Given the description of an element on the screen output the (x, y) to click on. 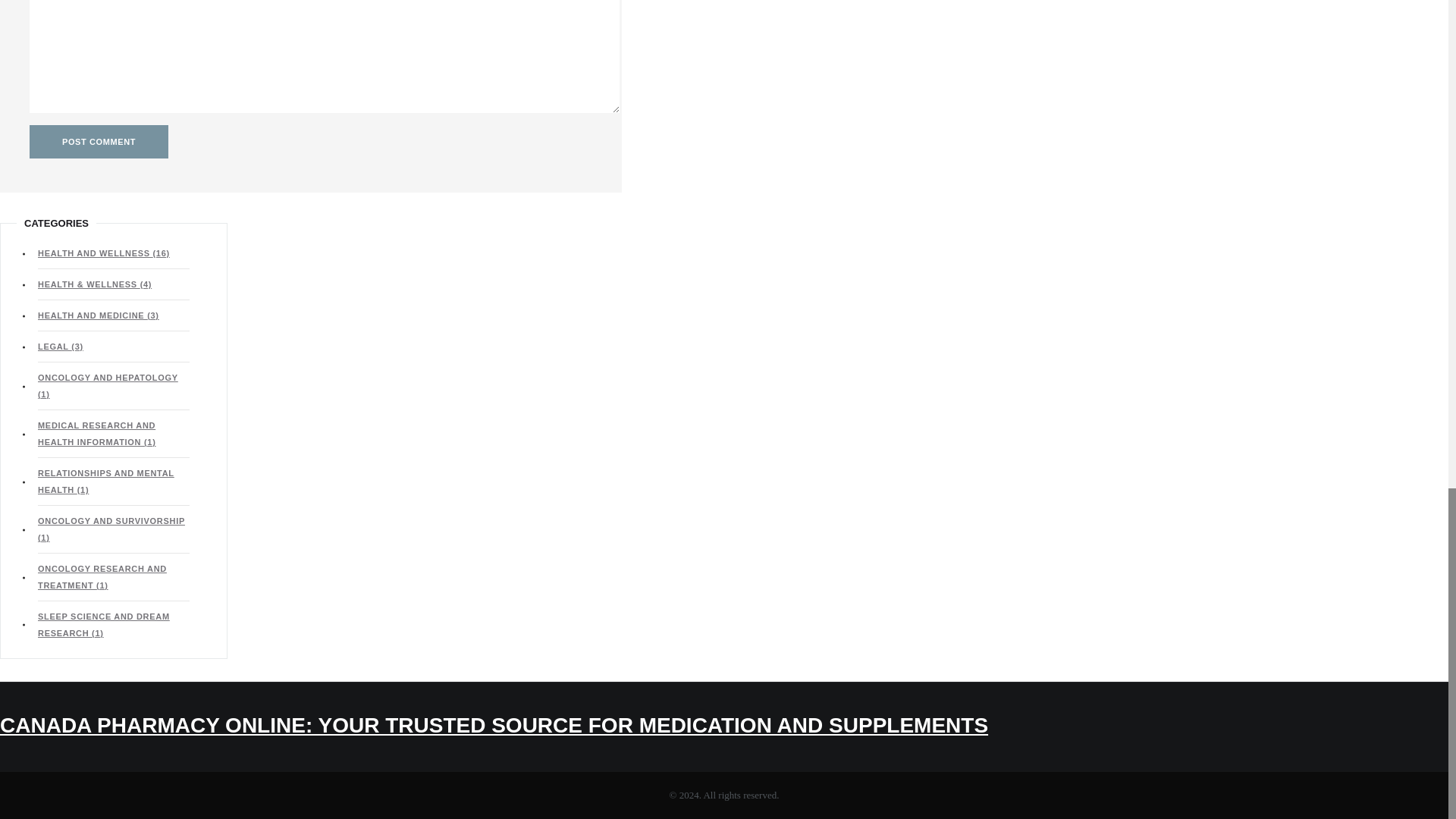
Post Comment (98, 141)
Post Comment (98, 141)
